Given the description of an element on the screen output the (x, y) to click on. 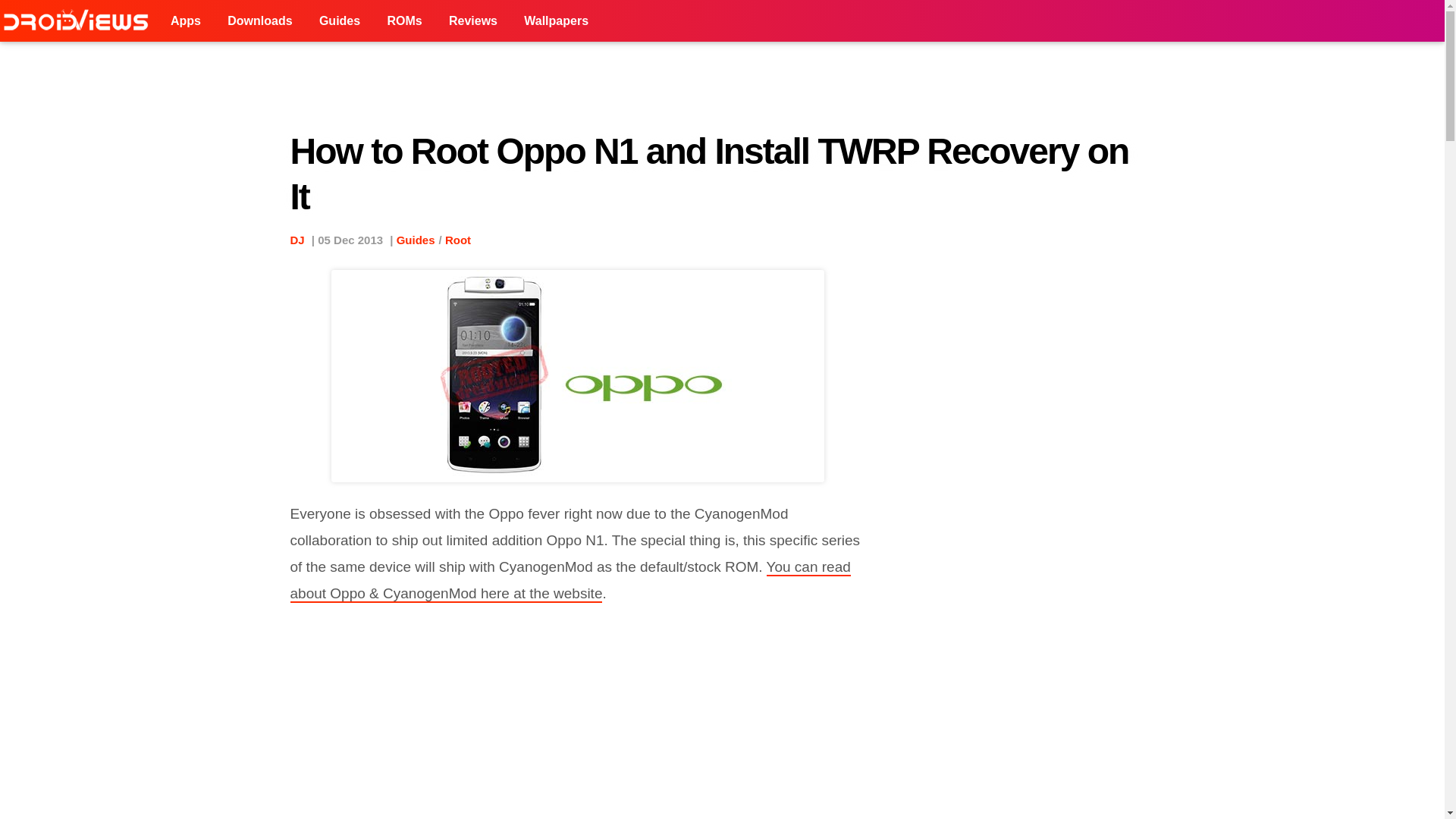
Guides (415, 239)
ROMs (403, 20)
Guides (339, 20)
Root (457, 239)
Downloads (258, 20)
Wallpapers (555, 20)
Apps (185, 20)
Reviews (473, 20)
DroidViews (79, 20)
DJ (296, 239)
